Given the description of an element on the screen output the (x, y) to click on. 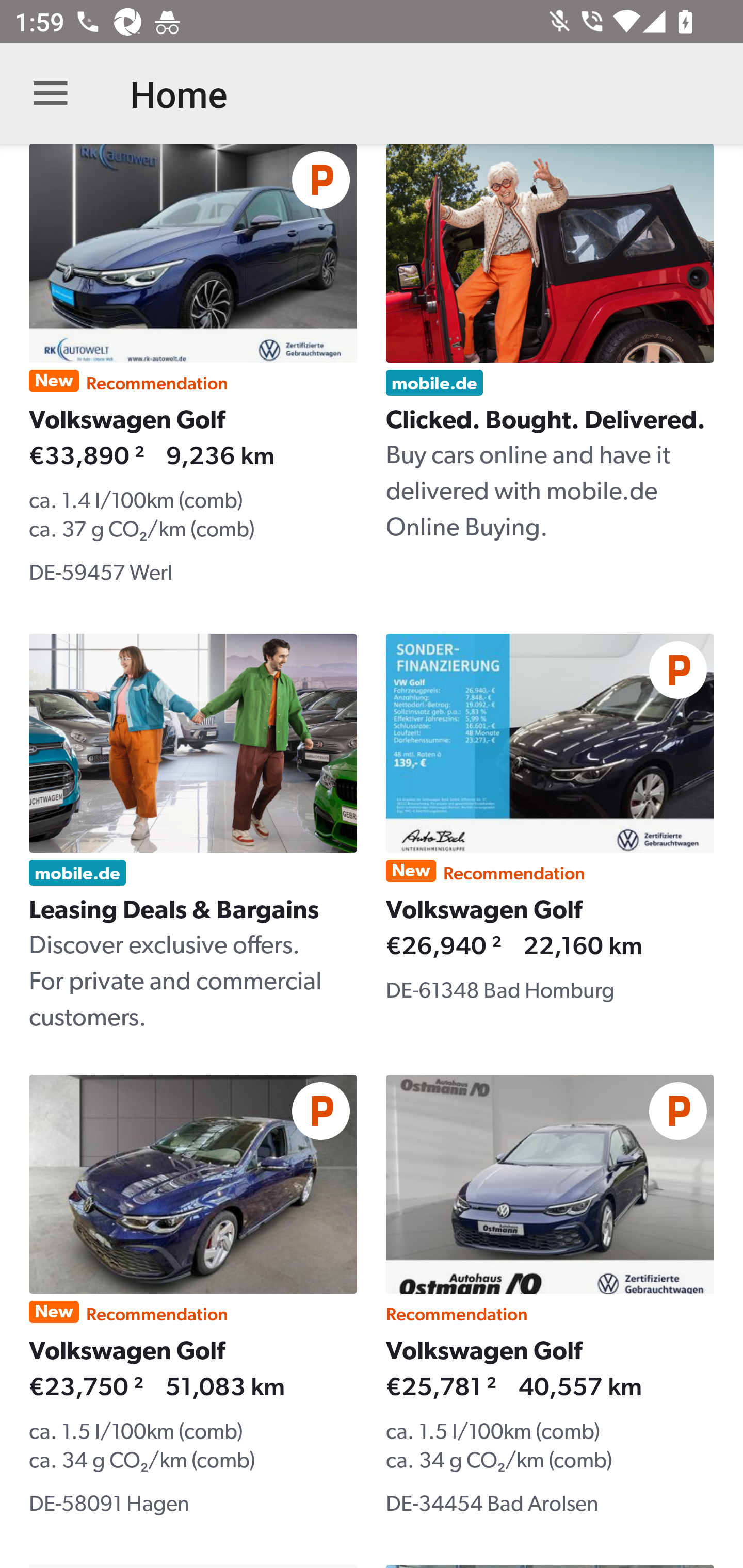
Open navigation bar (50, 93)
